Given the description of an element on the screen output the (x, y) to click on. 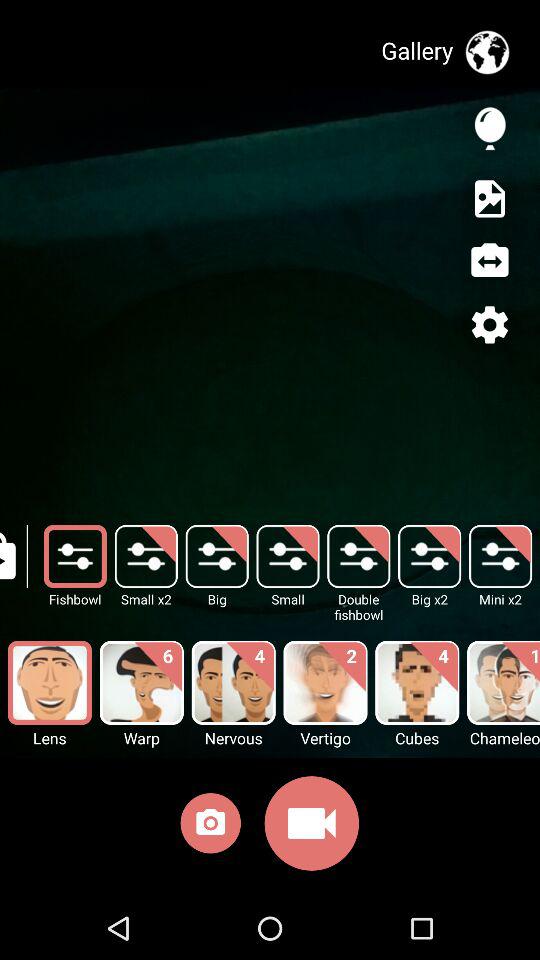
icon above chameleon (503, 682)
click on the image above warp (141, 682)
select option above video icon (325, 682)
select the image above the wrap (141, 682)
select the mini x2 button behind big x2 (500, 556)
click the image above the text called vertigo (325, 682)
select the nervous effect beside the warp effect (233, 682)
